Given the description of an element on the screen output the (x, y) to click on. 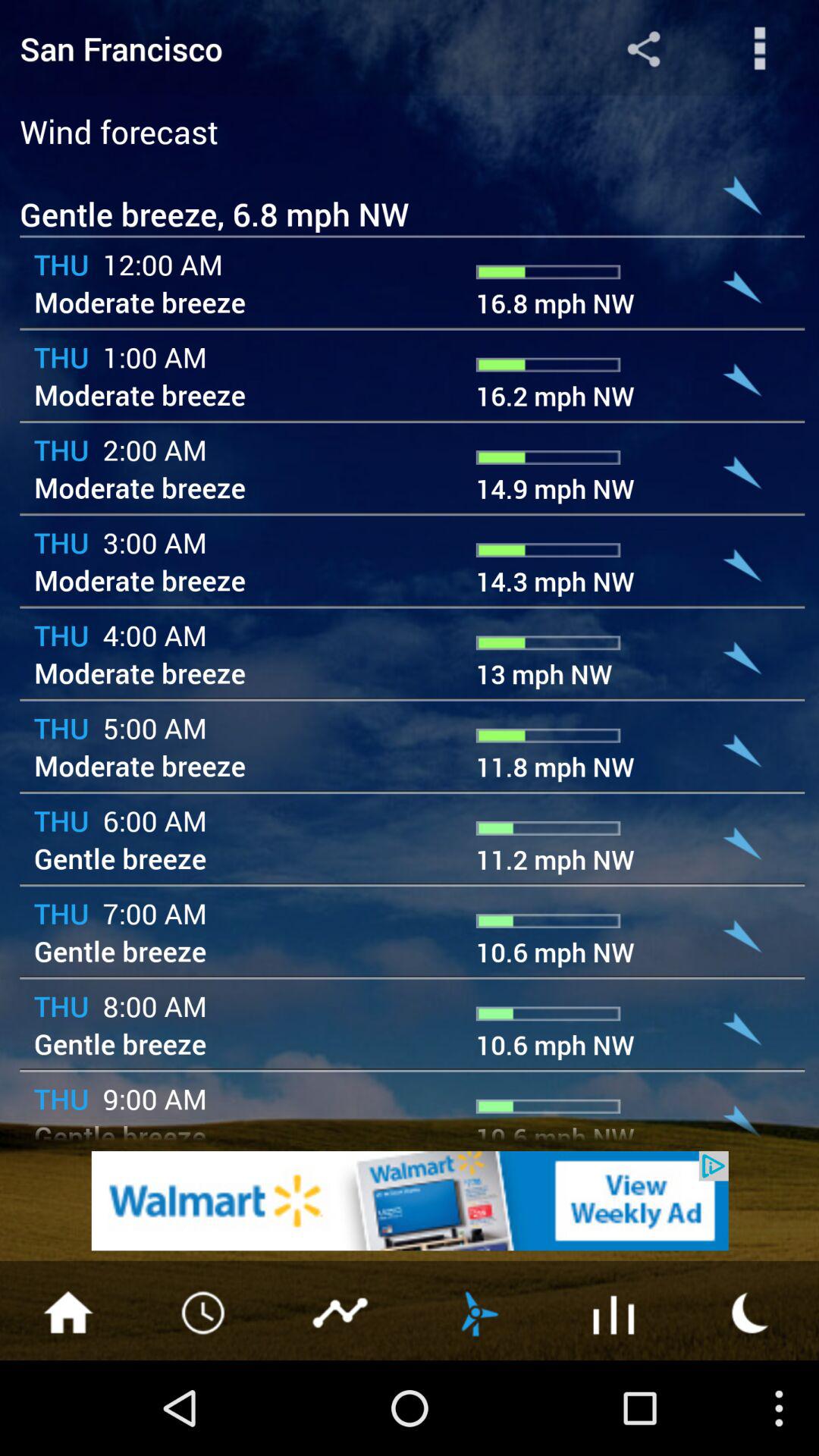
go to home (68, 1311)
